Given the description of an element on the screen output the (x, y) to click on. 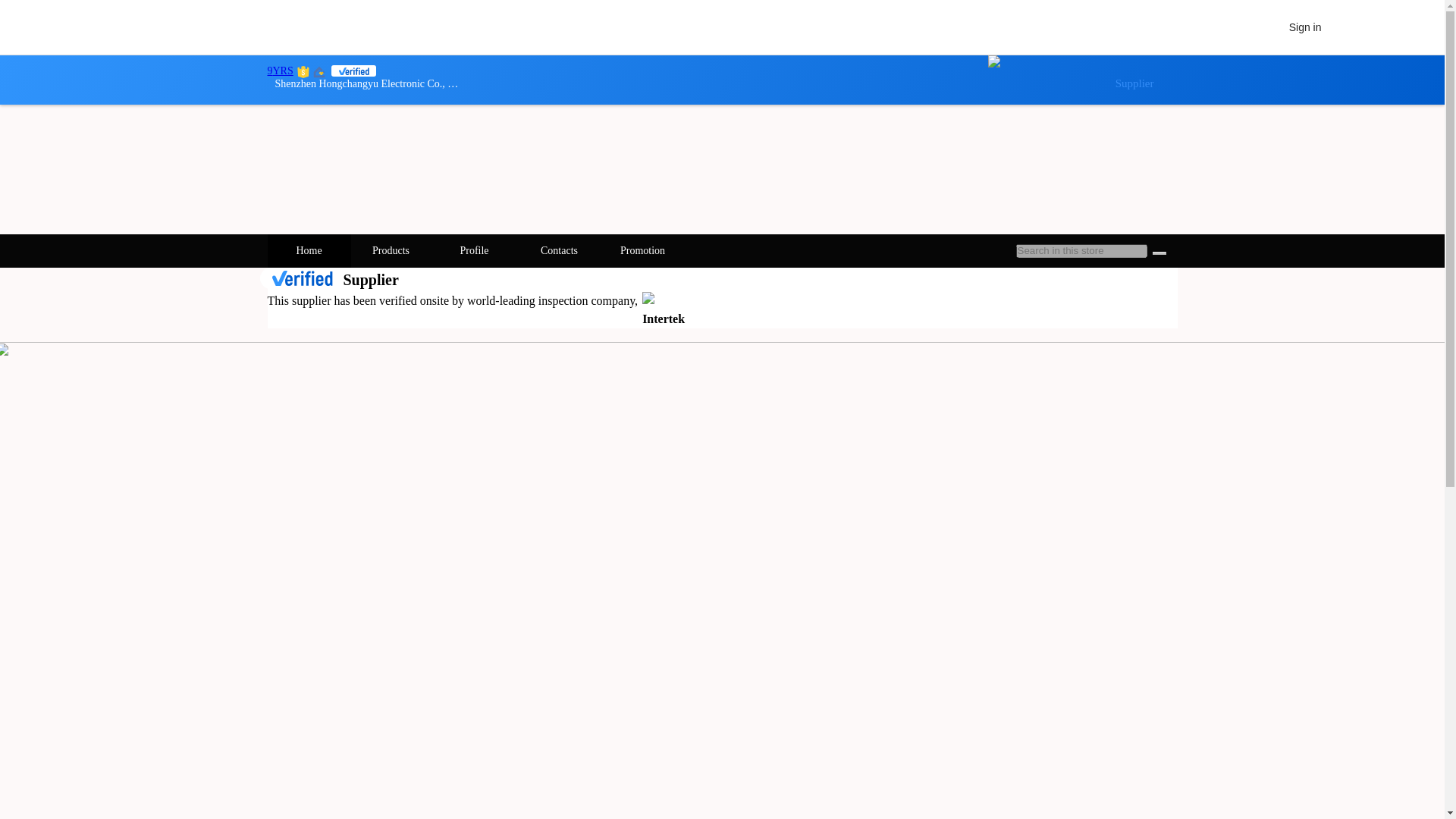
What is Gold Supplier? (279, 70)
Home (309, 250)
Products (391, 250)
Supplier (1081, 79)
Contacts (557, 250)
Profile (474, 250)
Promotion (642, 250)
Profile (474, 250)
Contacts (559, 250)
Home (308, 250)
